Given the description of an element on the screen output the (x, y) to click on. 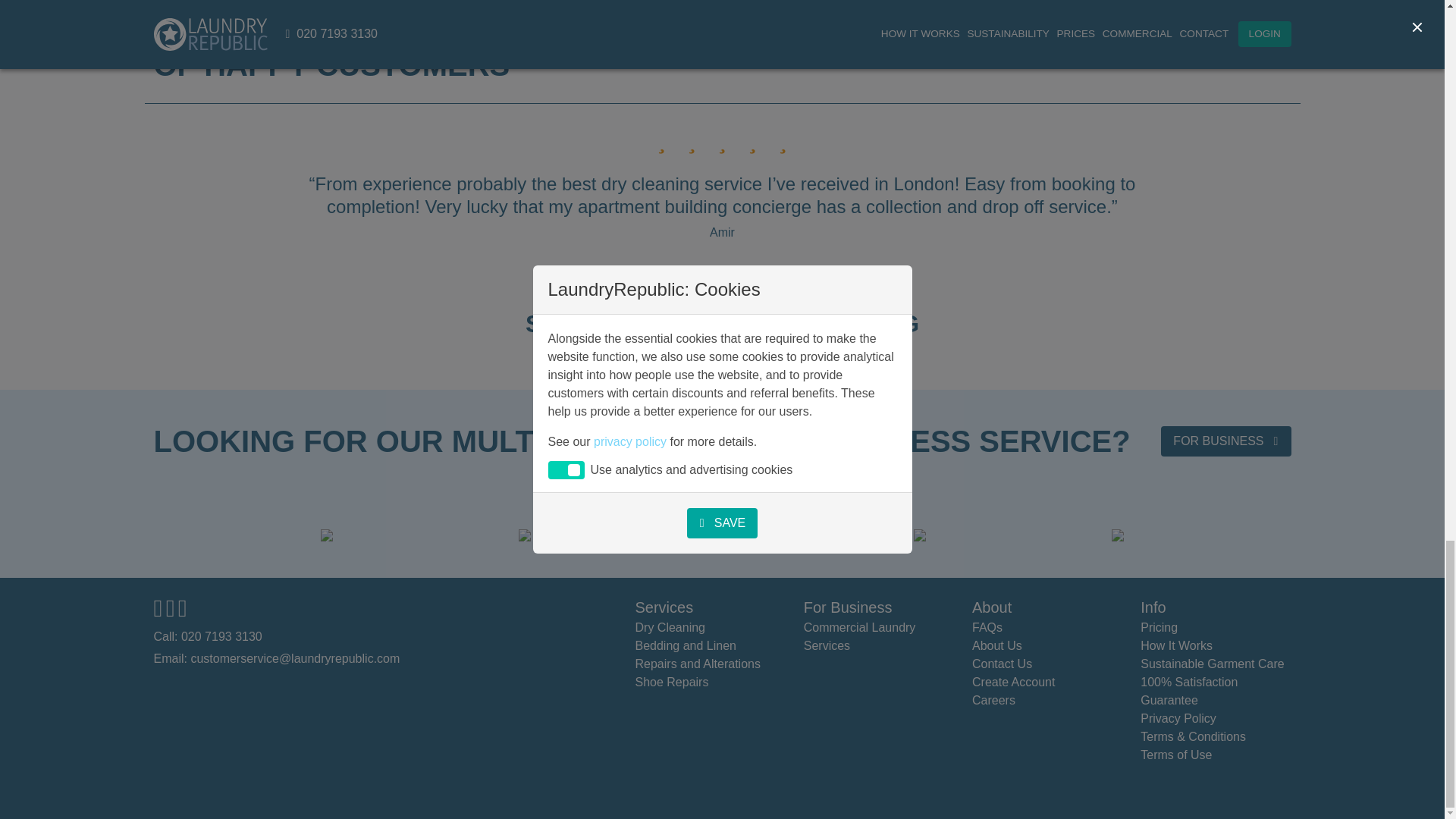
Pricing (1158, 626)
Commercial Laundry Services (859, 635)
FOR BUSINESS (1225, 440)
Call: 020 7193 3130 (207, 635)
Repairs and Alterations (697, 663)
Privacy Policy (1177, 717)
Contact Us (1002, 663)
Dry Cleaning (669, 626)
About Us (997, 645)
GET STARTED (806, 362)
